Given the description of an element on the screen output the (x, y) to click on. 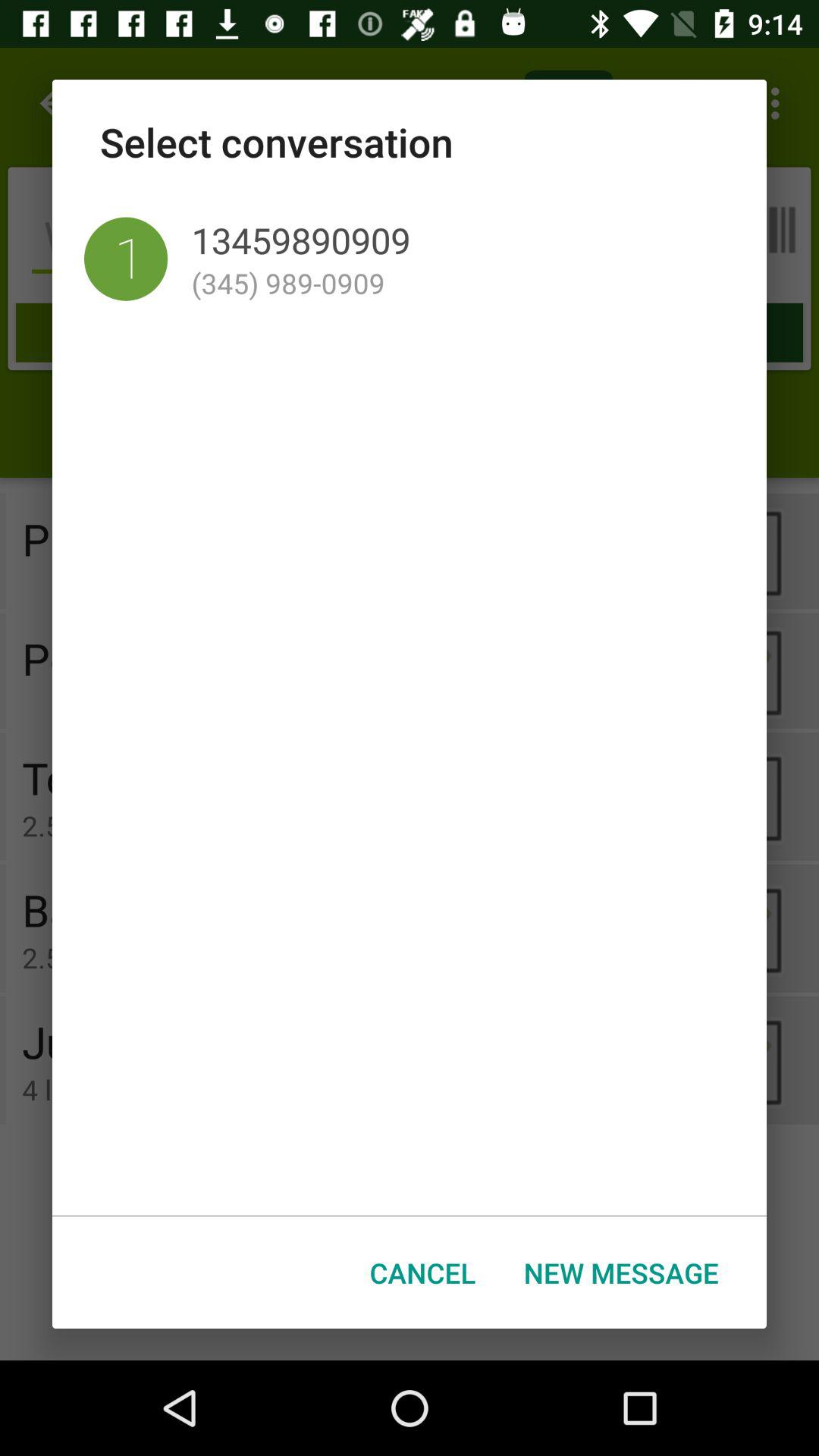
choose the item to the left of new message button (422, 1272)
